Given the description of an element on the screen output the (x, y) to click on. 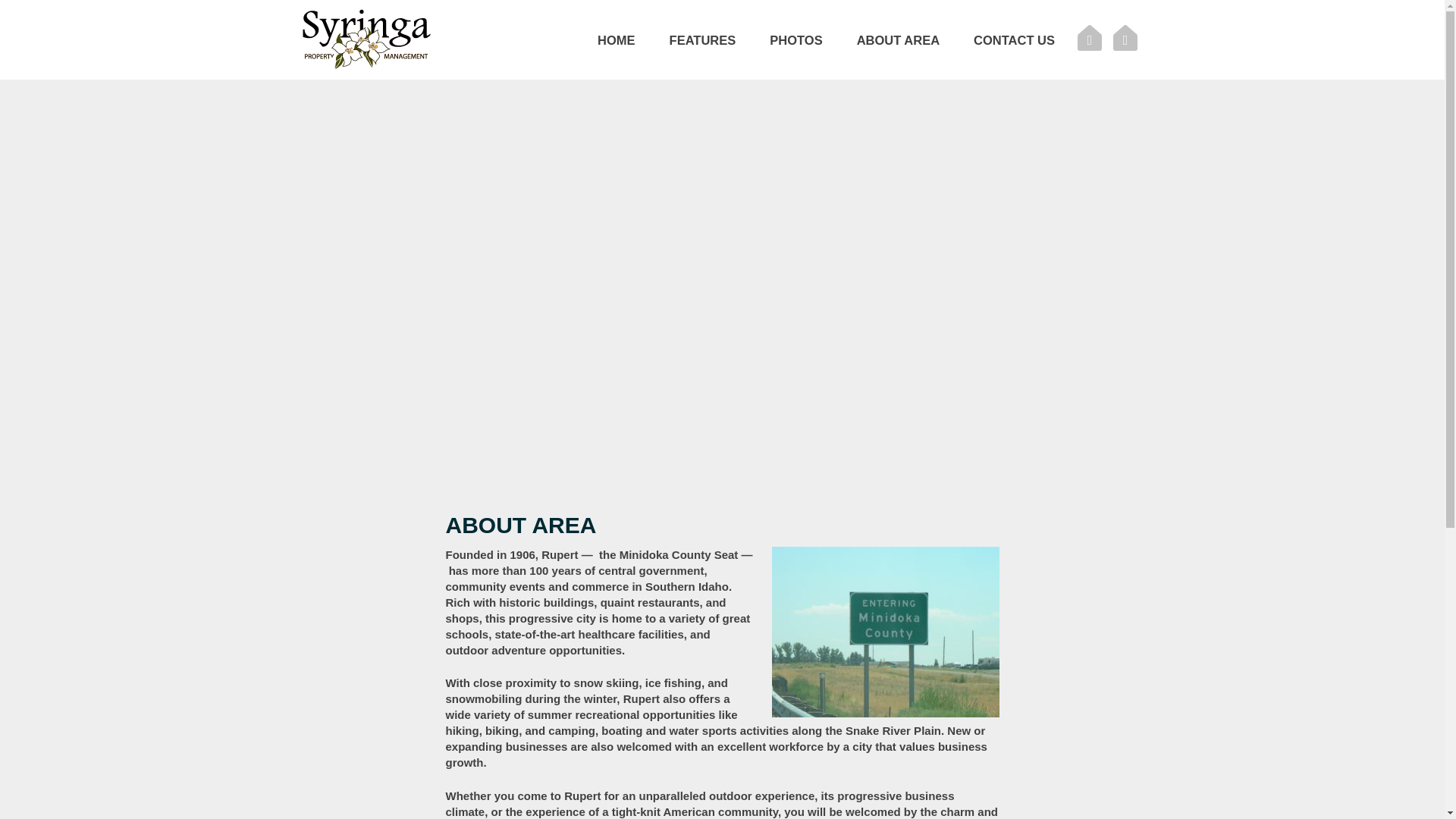
ABOUT AREA (897, 38)
Home (617, 38)
Contact Us (1014, 38)
Features (702, 38)
CONTACT US (1014, 38)
HOME (617, 38)
Photos (796, 38)
Request Service (1124, 39)
PHOTOS (796, 38)
Pay Rent (1089, 39)
